Given the description of an element on the screen output the (x, y) to click on. 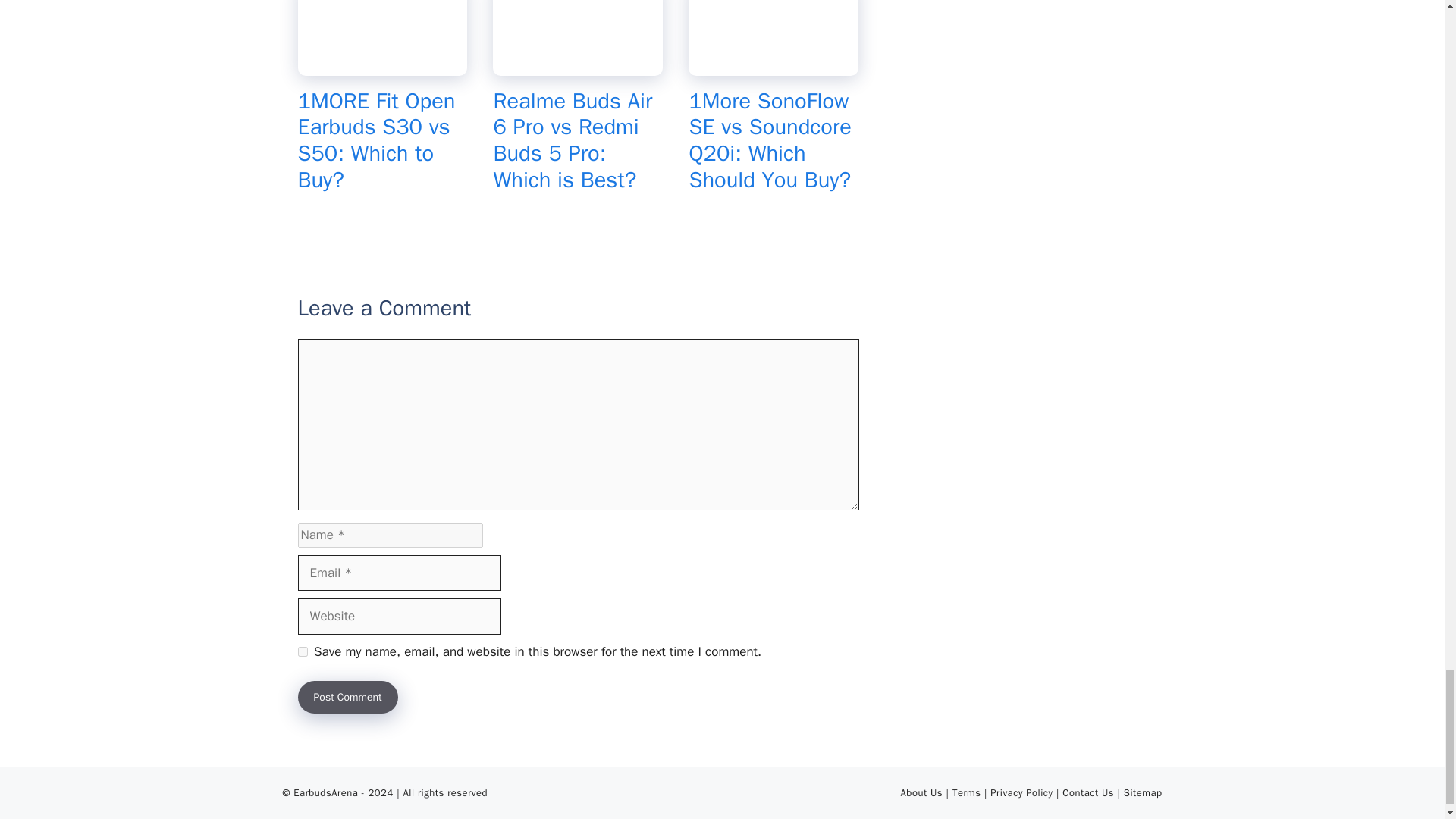
Realme Buds Air 6 Pro vs Redmi Buds 5 Pro: Which is Best? (572, 140)
1MORE Fit Open Earbuds S30 vs S50: Which to Buy? (382, 65)
Post Comment (347, 696)
1More SonoFlow SE vs Soundcore Q20i: Which Should You Buy? (773, 65)
1More SonoFlow SE vs Soundcore Q20i: Which Should You Buy? (769, 140)
1MORE Fit Open Earbuds S30 vs S50: Which to Buy? (375, 140)
Realme Buds Air 6 Pro vs Redmi Buds 5 Pro: Which is Best? (577, 65)
yes (302, 651)
